Given the description of an element on the screen output the (x, y) to click on. 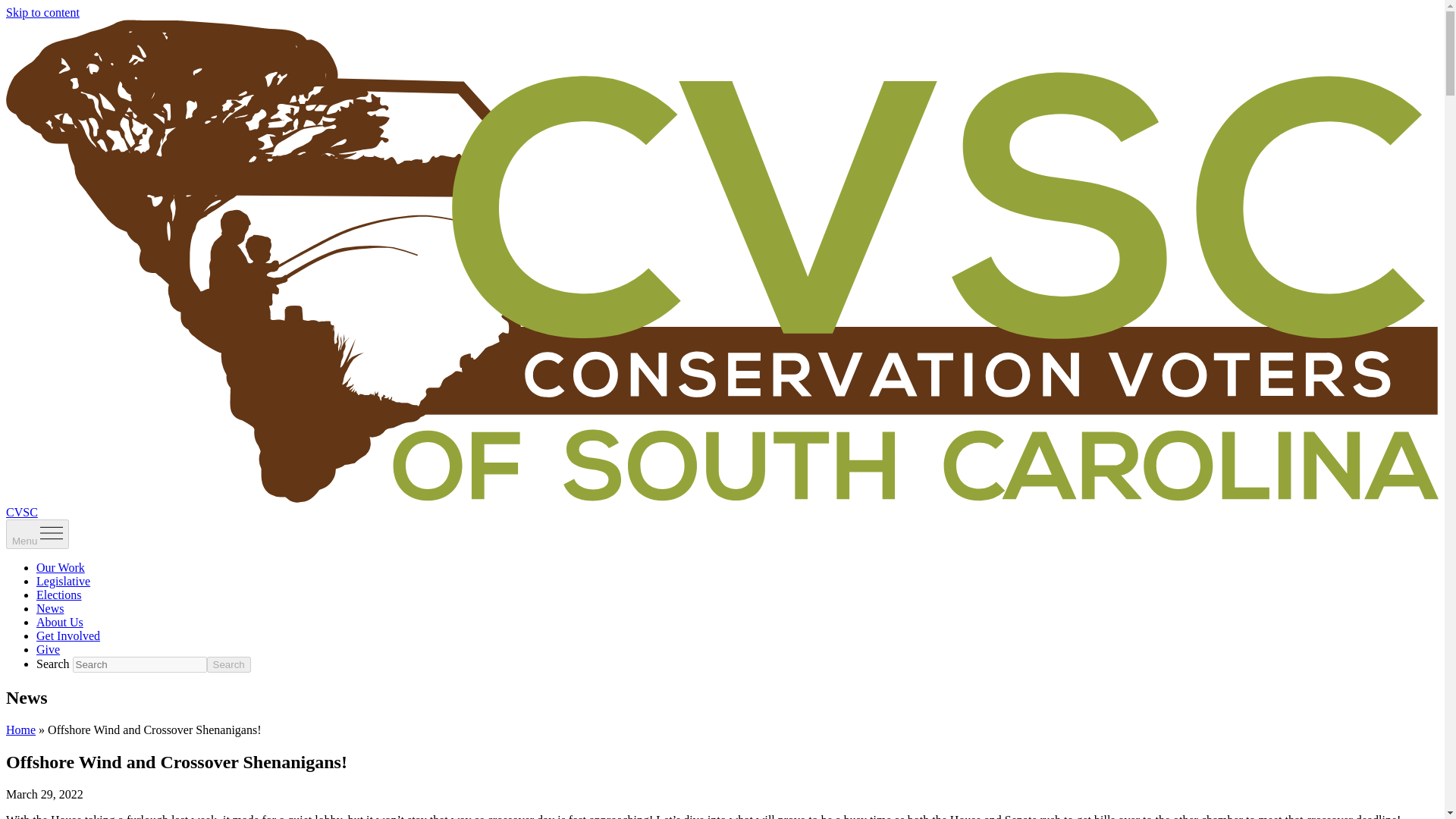
About Us (59, 621)
Skip to content (42, 11)
Menu (36, 533)
Search (228, 664)
Home (19, 729)
Legislative (63, 581)
News (50, 608)
Elections (58, 594)
Give (47, 649)
Get Involved (68, 635)
Our Work (60, 567)
